Given the description of an element on the screen output the (x, y) to click on. 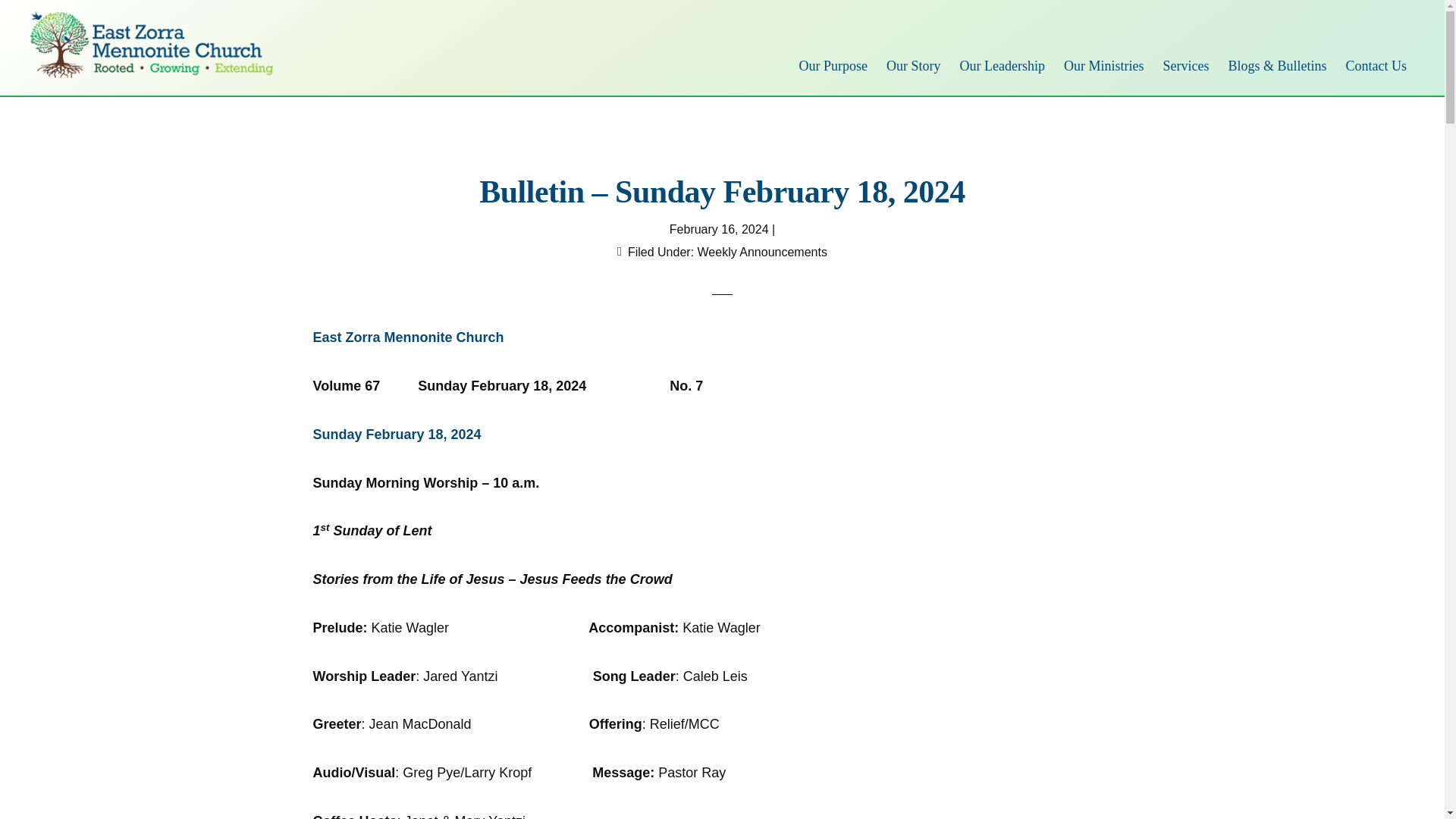
Services (1184, 65)
Contact Us (1375, 65)
Our Story (914, 65)
Weekly Announcements (762, 251)
Our Leadership (1001, 65)
Our Purpose (832, 65)
East Zorra Mennonite Church (408, 337)
Sunday February 18, 2024 (396, 434)
Our Ministries (1104, 65)
